Given the description of an element on the screen output the (x, y) to click on. 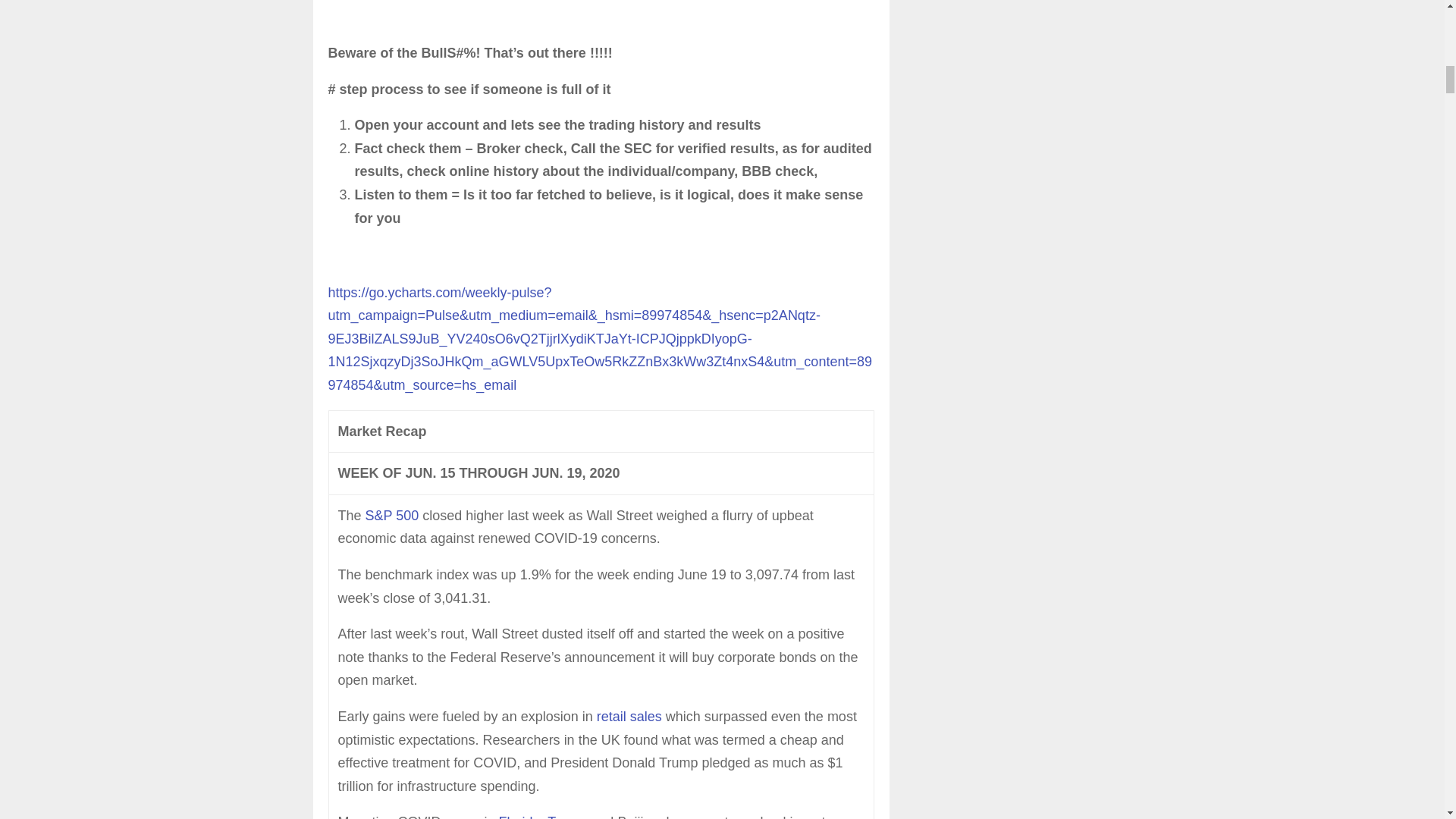
Florida (519, 816)
HI Market View Commentary  06-22-2020 (600, 10)
retail sales (629, 716)
Texas (565, 816)
